Given the description of an element on the screen output the (x, y) to click on. 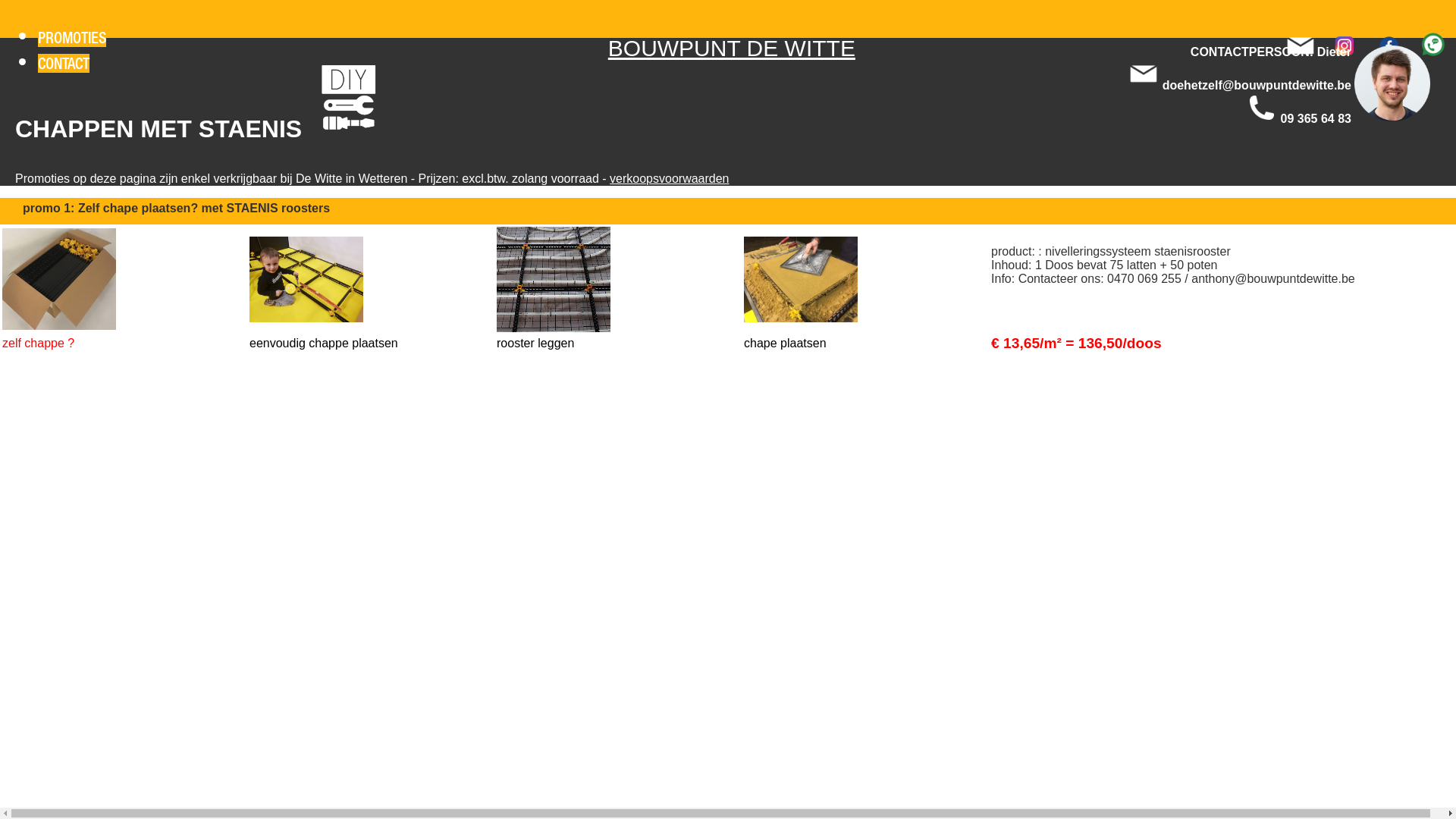
PROMOTIES Element type: text (71, 37)
09 365 64 83 Element type: text (1315, 118)
verkoopsvoorwaarden Element type: text (668, 178)
BOUWPUNT DE WITTE Element type: text (731, 47)
doehetzelf@bouwpuntdewitte.be Element type: text (1256, 84)
CONTACT Element type: text (63, 62)
